Given the description of an element on the screen output the (x, y) to click on. 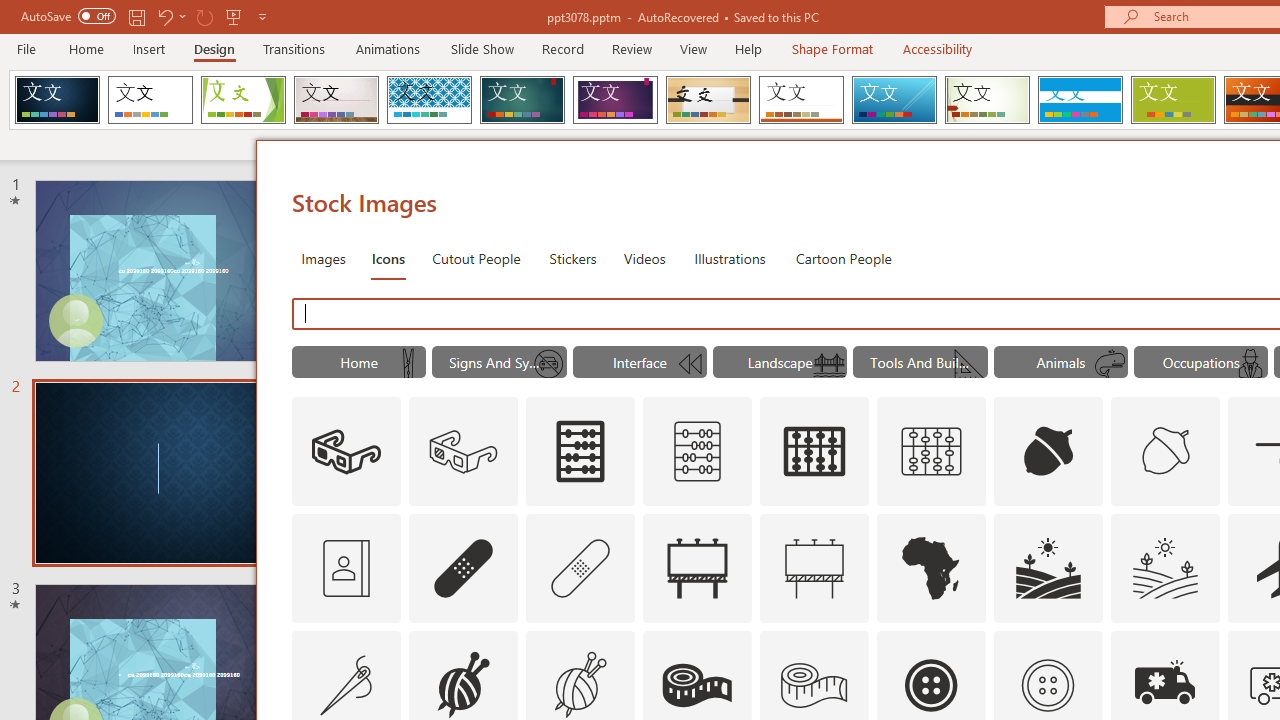
AutomationID: Icons_NoDriving_M (549, 364)
Wisp (987, 100)
Basis (1172, 100)
AutomationID: Icons_AdhesiveBandage (463, 568)
Cutout People (477, 258)
"Signs And Symbols" Icons. (499, 362)
Ion Boardroom (615, 100)
Office Theme (150, 100)
AutomationID: Icons_Abacus_M (697, 452)
AutomationID: Icons_Agriculture_M (1165, 568)
